Given the description of an element on the screen output the (x, y) to click on. 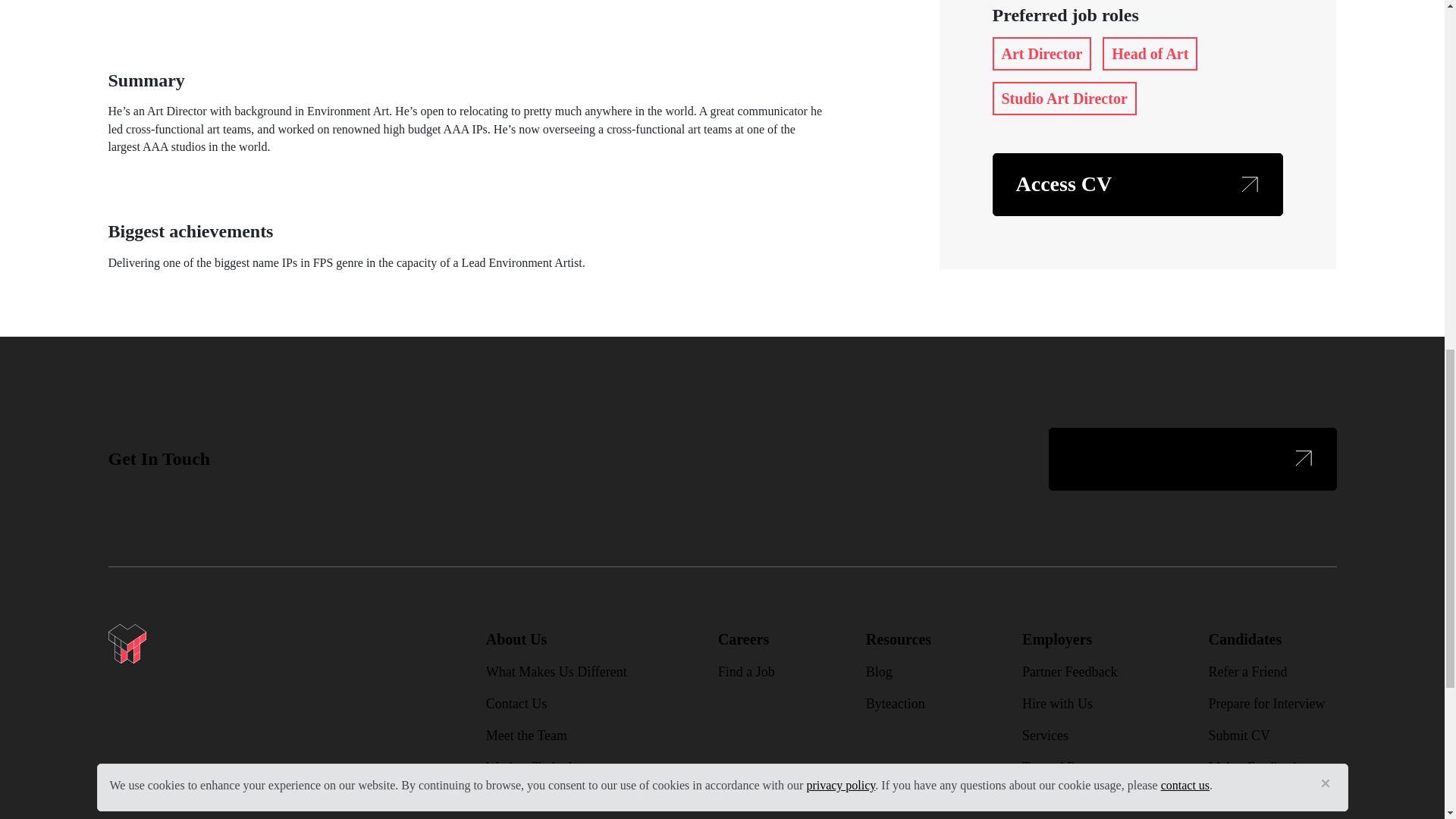
What Makes Us Different (556, 671)
About Us (516, 639)
Work at Techtak (530, 767)
Access CV (1136, 184)
Contact Us (516, 703)
Meet the Team (526, 735)
